Given the description of an element on the screen output the (x, y) to click on. 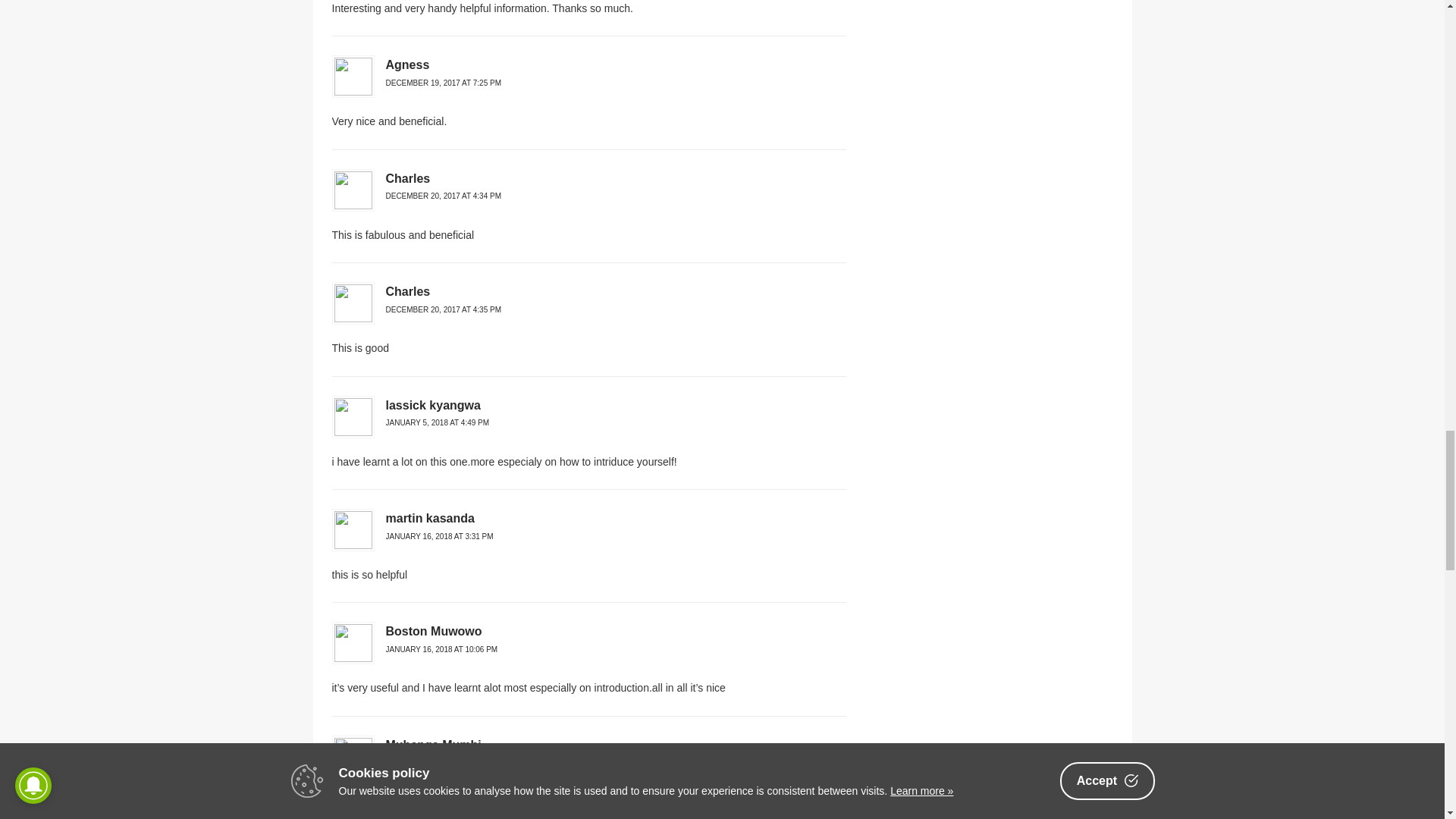
JANUARY 16, 2018 AT 3:31 PM (439, 536)
JANUARY 16, 2018 AT 10:06 PM (441, 649)
DECEMBER 20, 2017 AT 4:35 PM (442, 309)
DECEMBER 20, 2017 AT 4:34 PM (442, 195)
JANUARY 19, 2018 AT 6:12 PM (439, 762)
DECEMBER 19, 2017 AT 7:25 PM (442, 82)
JANUARY 5, 2018 AT 4:49 PM (437, 422)
